Given the description of an element on the screen output the (x, y) to click on. 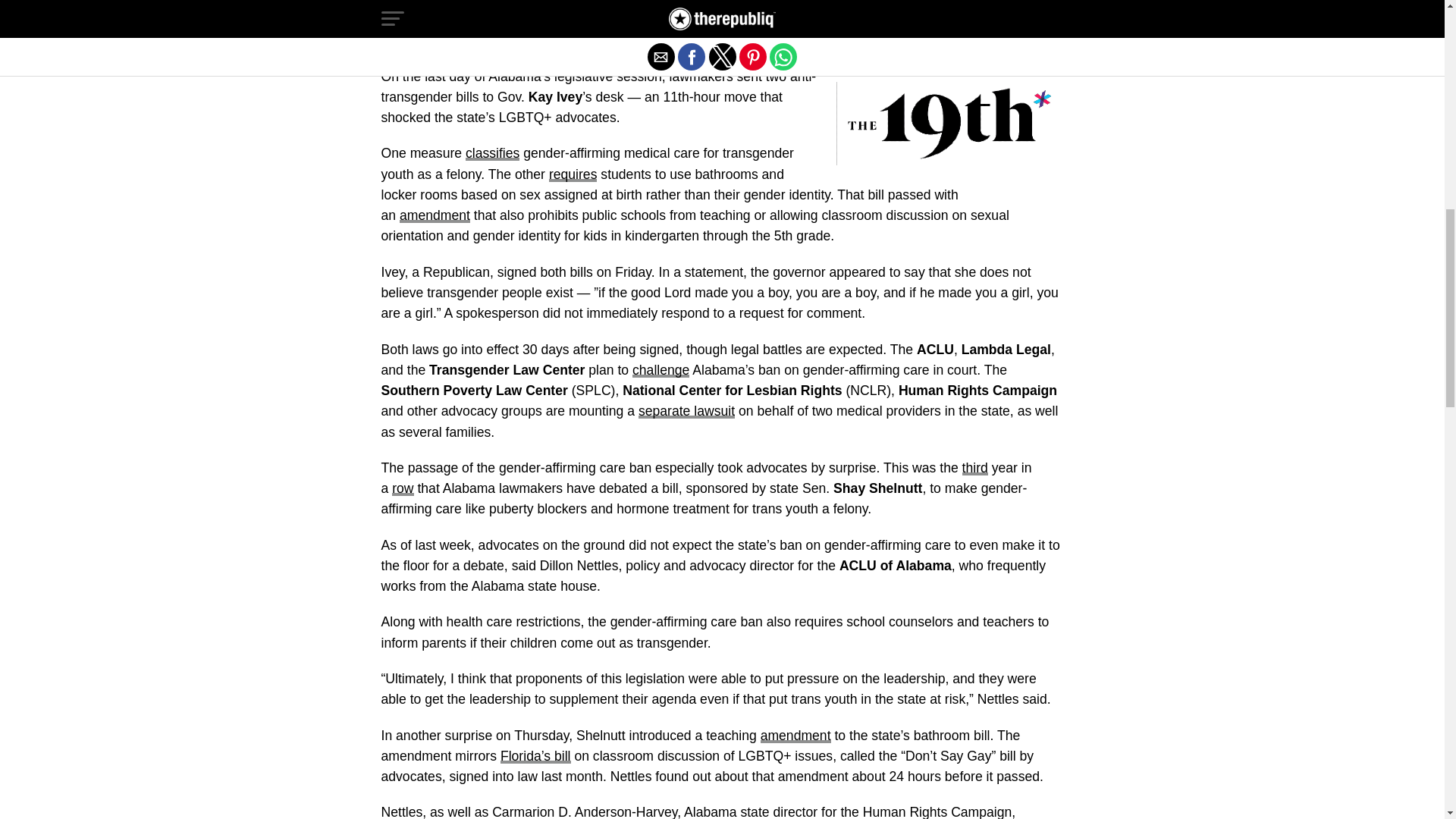
amendment (795, 735)
classifies (492, 152)
requires (572, 174)
row (402, 488)
challenge (659, 369)
separate lawsuit (687, 410)
third (975, 467)
The 19th (662, 23)
amendment (434, 215)
